Given the description of an element on the screen output the (x, y) to click on. 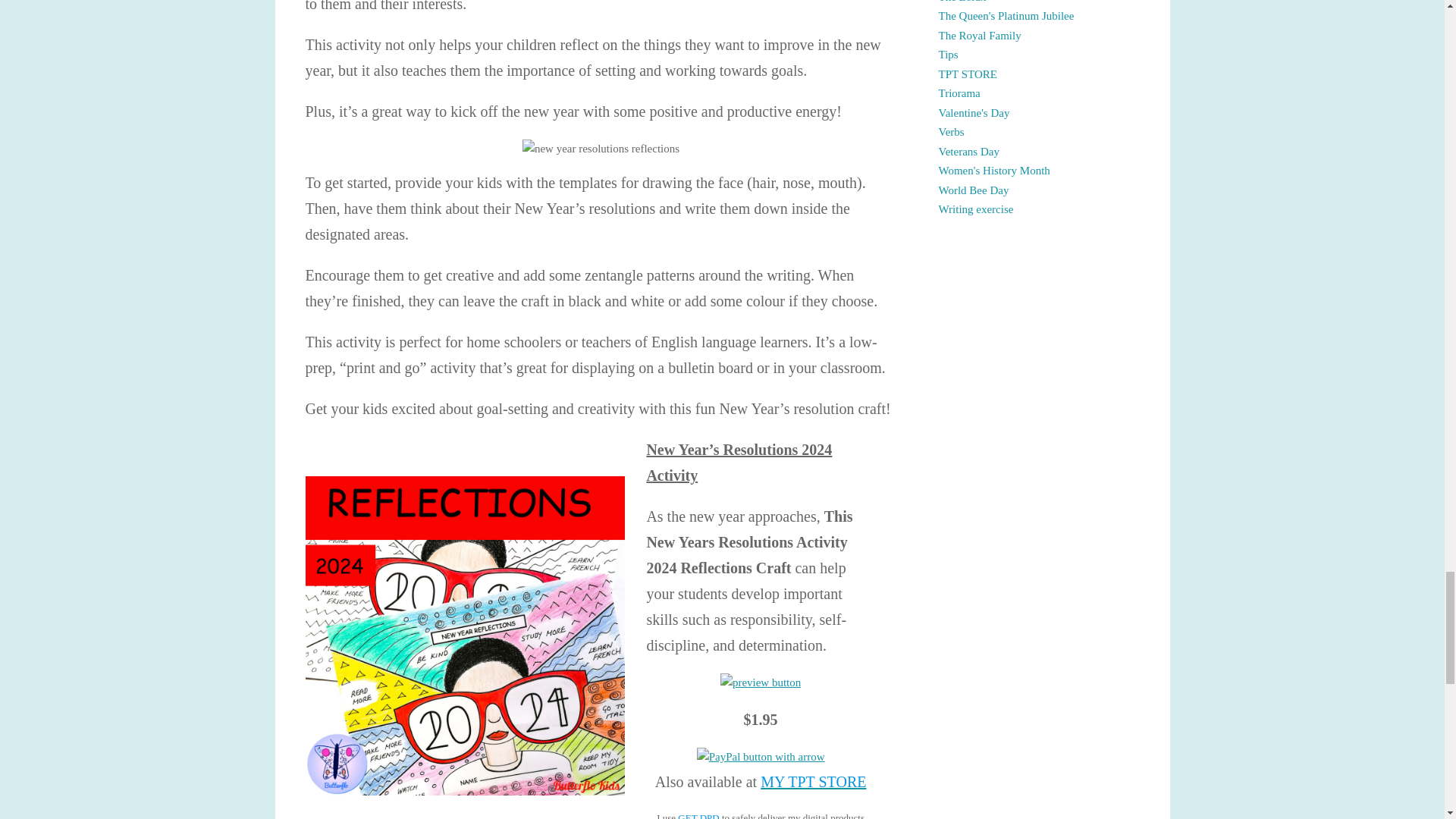
MY TPT STORE (813, 781)
GET DPD (698, 815)
